Given the description of an element on the screen output the (x, y) to click on. 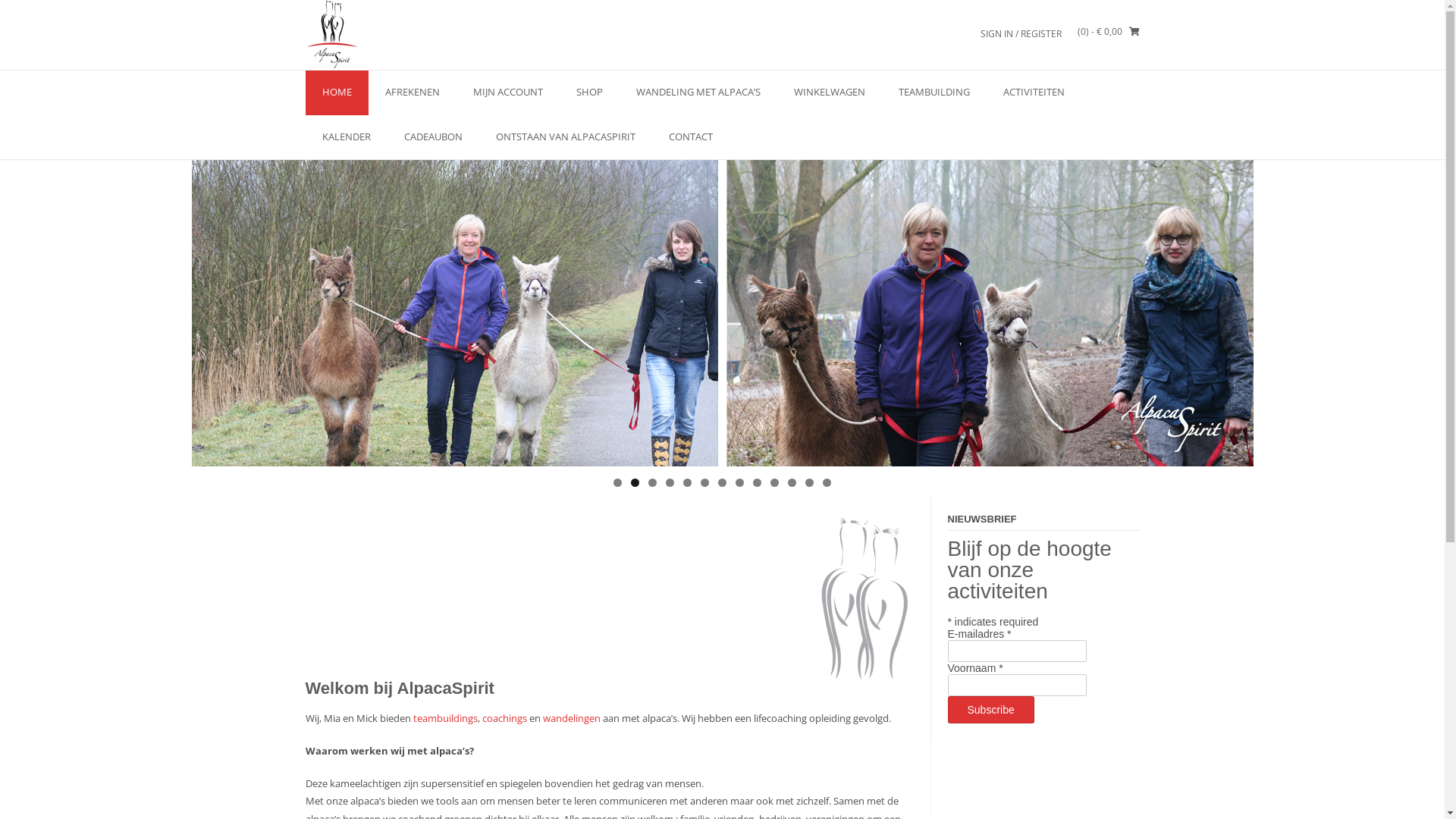
1 Element type: text (617, 482)
ACTIVITEITEN Element type: text (1032, 92)
4 Element type: text (669, 482)
6 Element type: text (704, 482)
ONTSTAAN VAN ALPACASPIRIT Element type: text (565, 137)
Alpacaspirit Element type: hover (410, 34)
8 Element type: text (739, 482)
KALENDER Element type: text (345, 137)
TEAMBUILDING Element type: text (933, 92)
11 Element type: text (791, 482)
SHOP Element type: text (589, 92)
5 Element type: text (687, 482)
HOME Element type: text (335, 92)
CONTACT Element type: text (690, 137)
SIGN IN / REGISTER Element type: text (1020, 32)
WINKELWAGEN Element type: text (828, 92)
3 Element type: text (652, 482)
teambuildings Element type: text (444, 717)
wandelingen Element type: text (571, 717)
2 Element type: text (634, 482)
10 Element type: text (774, 482)
12 Element type: text (809, 482)
coachings Element type: text (504, 717)
AFREKENEN Element type: text (412, 92)
MIJN ACCOUNT Element type: text (507, 92)
Subscribe Element type: text (990, 709)
13 Element type: text (826, 482)
9 Element type: text (757, 482)
7 Element type: text (722, 482)
CADEAUBON Element type: text (432, 137)
